Given the description of an element on the screen output the (x, y) to click on. 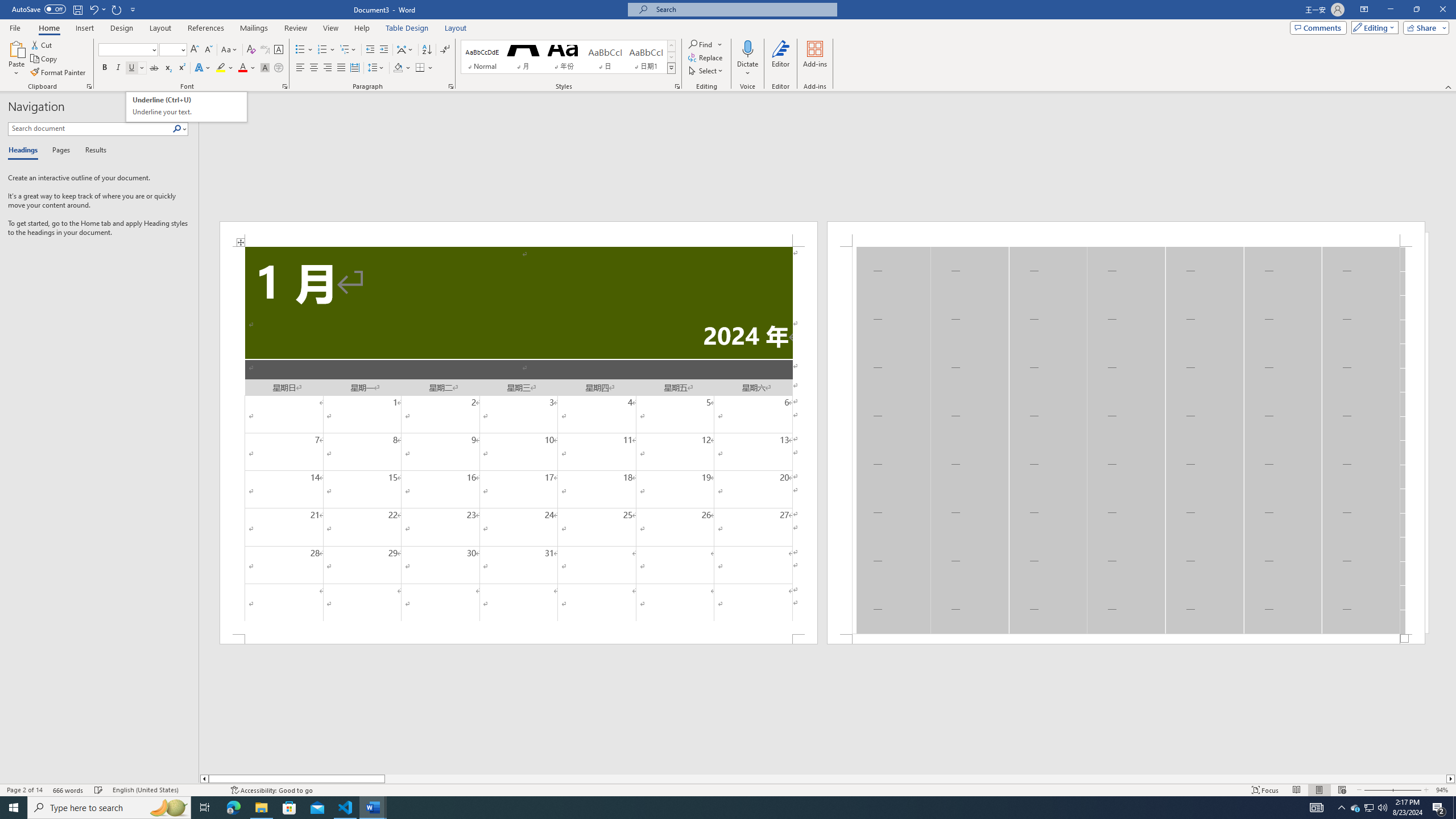
Accessibility Checker Accessibility: Good to go (271, 790)
Bold (104, 67)
Header -Section 1- (1126, 233)
Align Right (327, 67)
Strikethrough (154, 67)
Character Border (278, 49)
Change Case (229, 49)
